Given the description of an element on the screen output the (x, y) to click on. 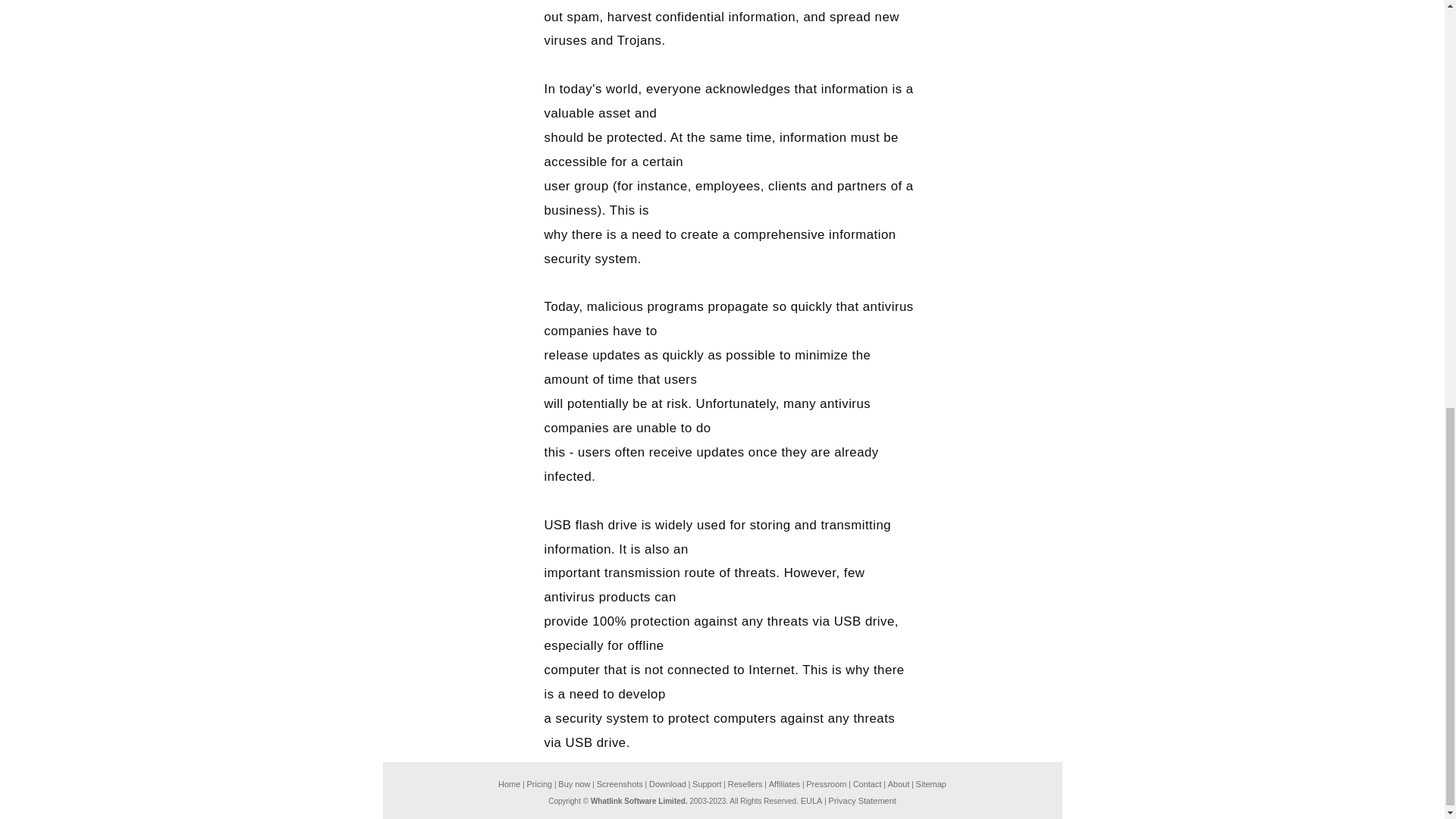
Screenshots (619, 783)
Affiliates (783, 783)
Resellers (745, 783)
Support (707, 783)
Home (508, 783)
Pricing (540, 783)
Pressroom (825, 783)
Buy now (573, 783)
Contact (867, 783)
Download (667, 783)
About (899, 783)
